Given the description of an element on the screen output the (x, y) to click on. 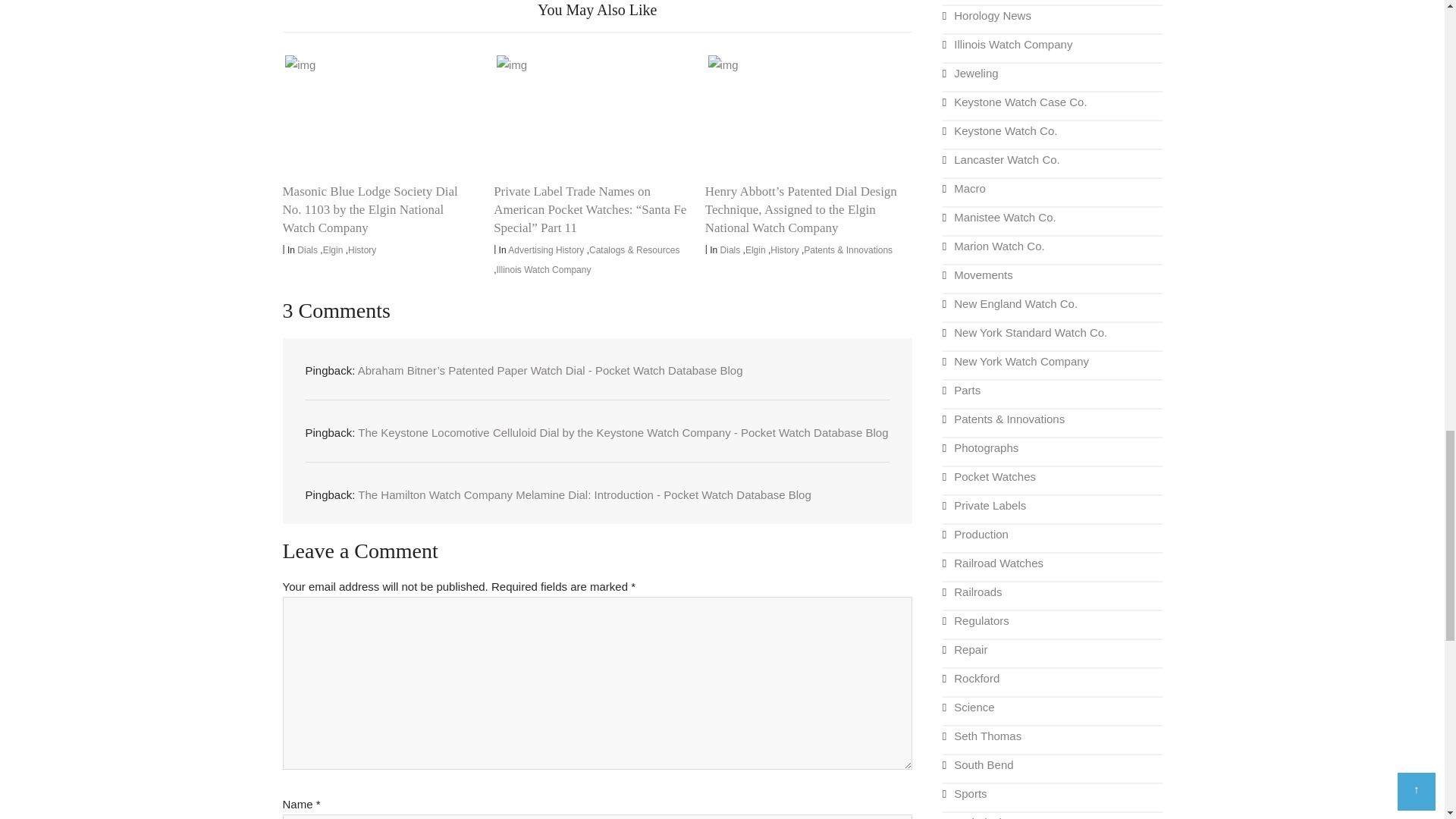
History (361, 249)
Dials (307, 249)
Elgin (333, 249)
